Given the description of an element on the screen output the (x, y) to click on. 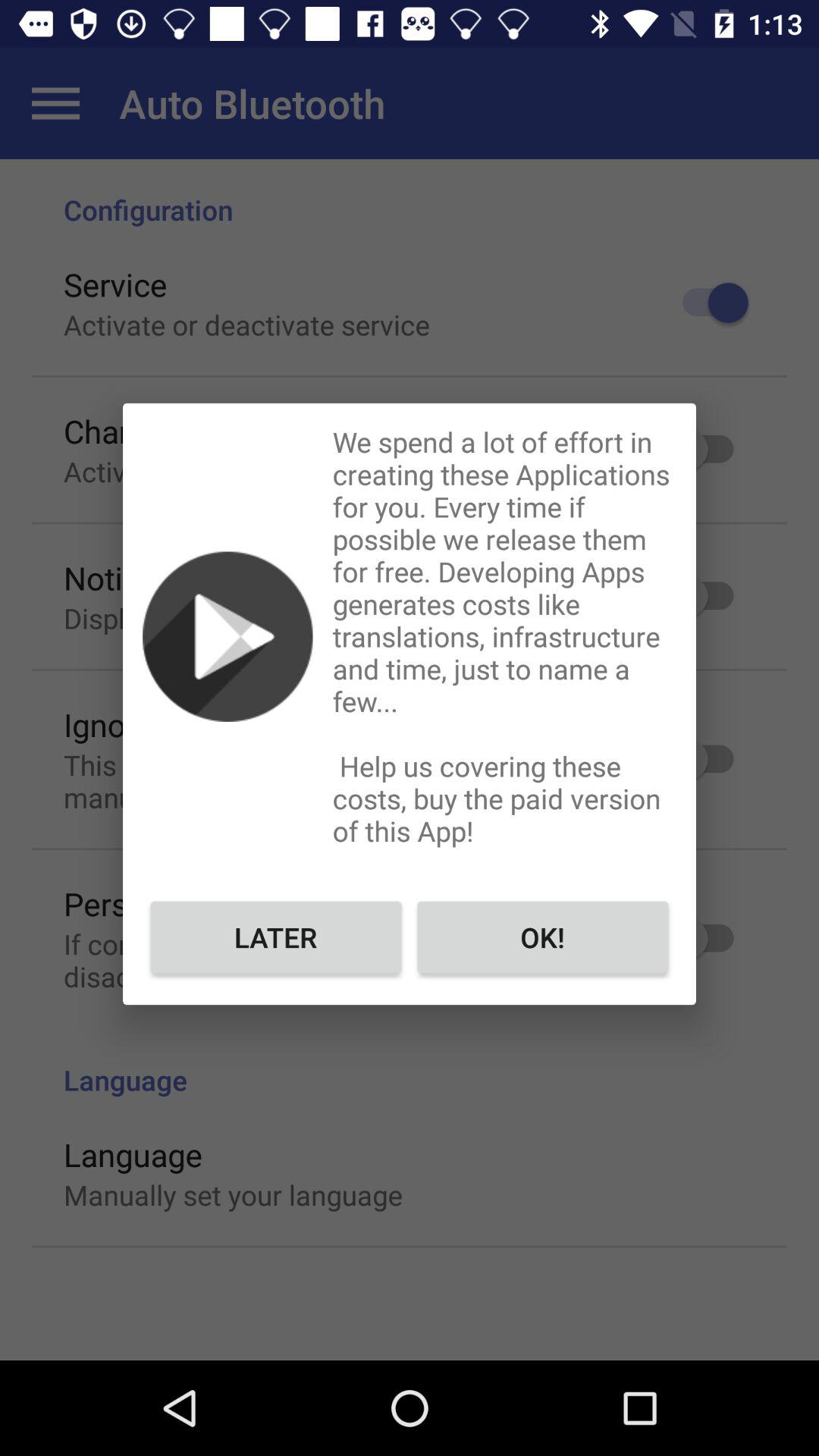
tap the ok! item (542, 937)
